Given the description of an element on the screen output the (x, y) to click on. 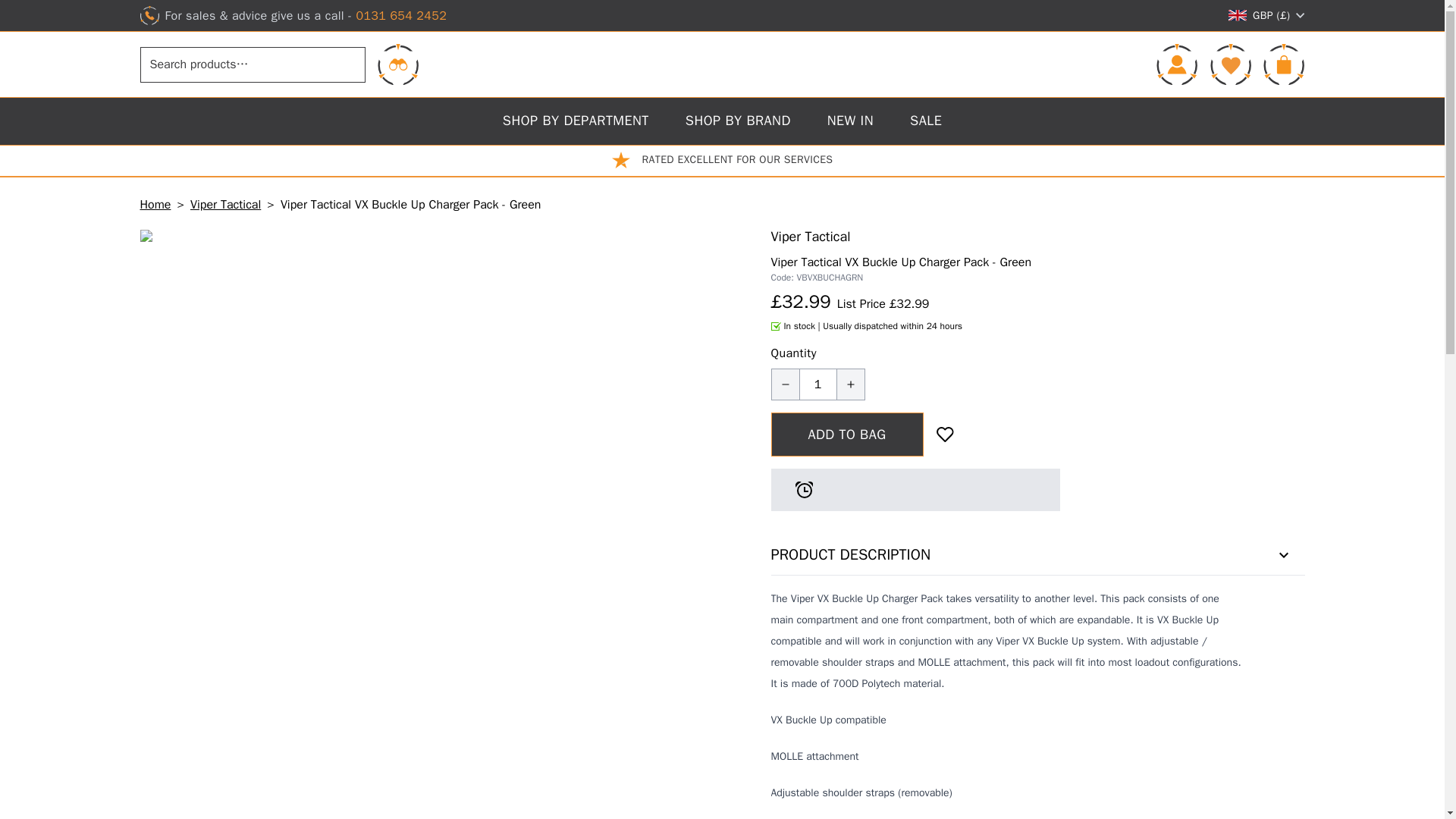
1 (817, 384)
SHOP BY DEPARTMENT (575, 120)
0 (1229, 64)
